Given the description of an element on the screen output the (x, y) to click on. 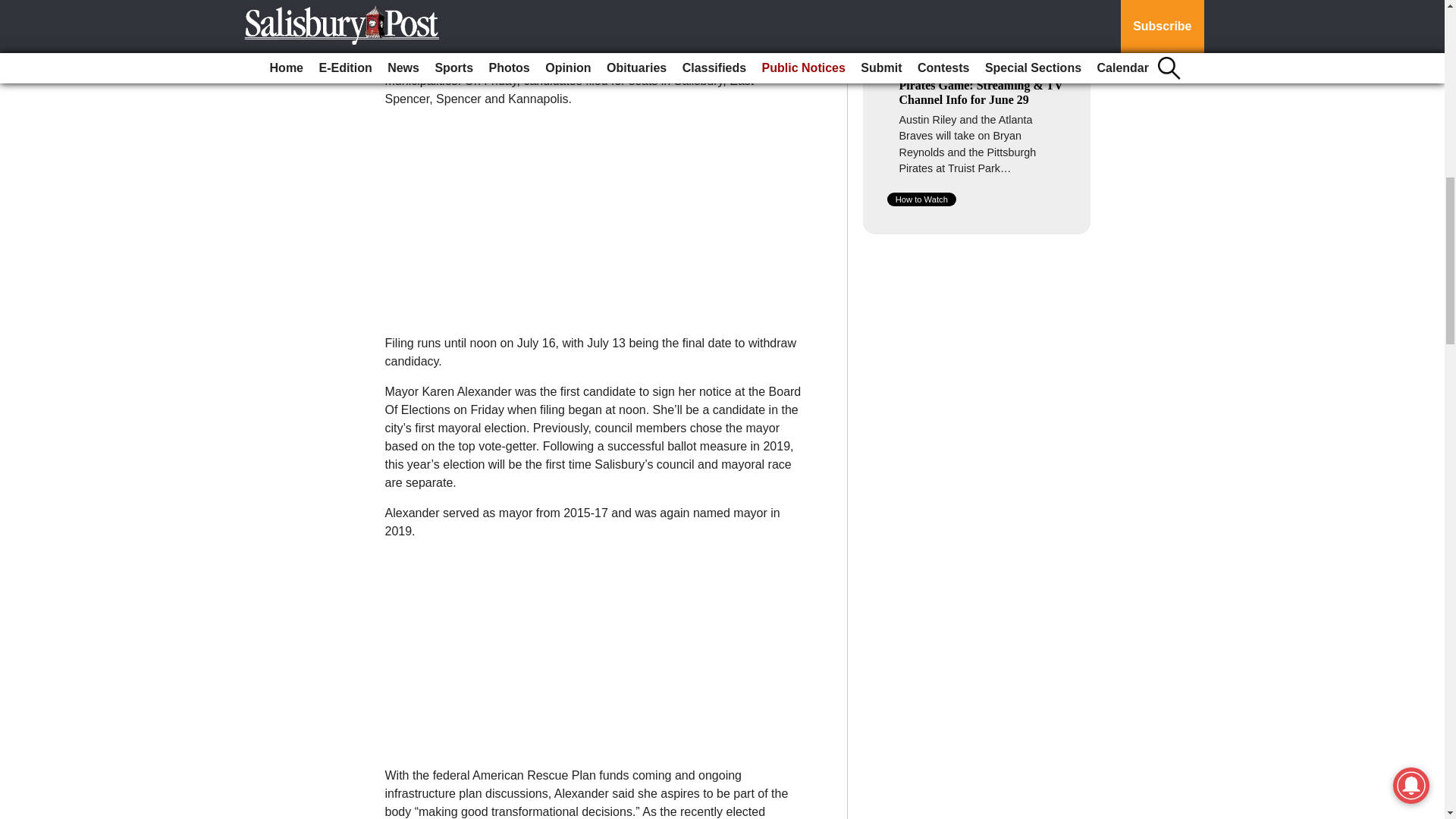
3rd party ad content (976, 352)
3rd party ad content (976, 566)
3rd party ad content (592, 215)
